Given the description of an element on the screen output the (x, y) to click on. 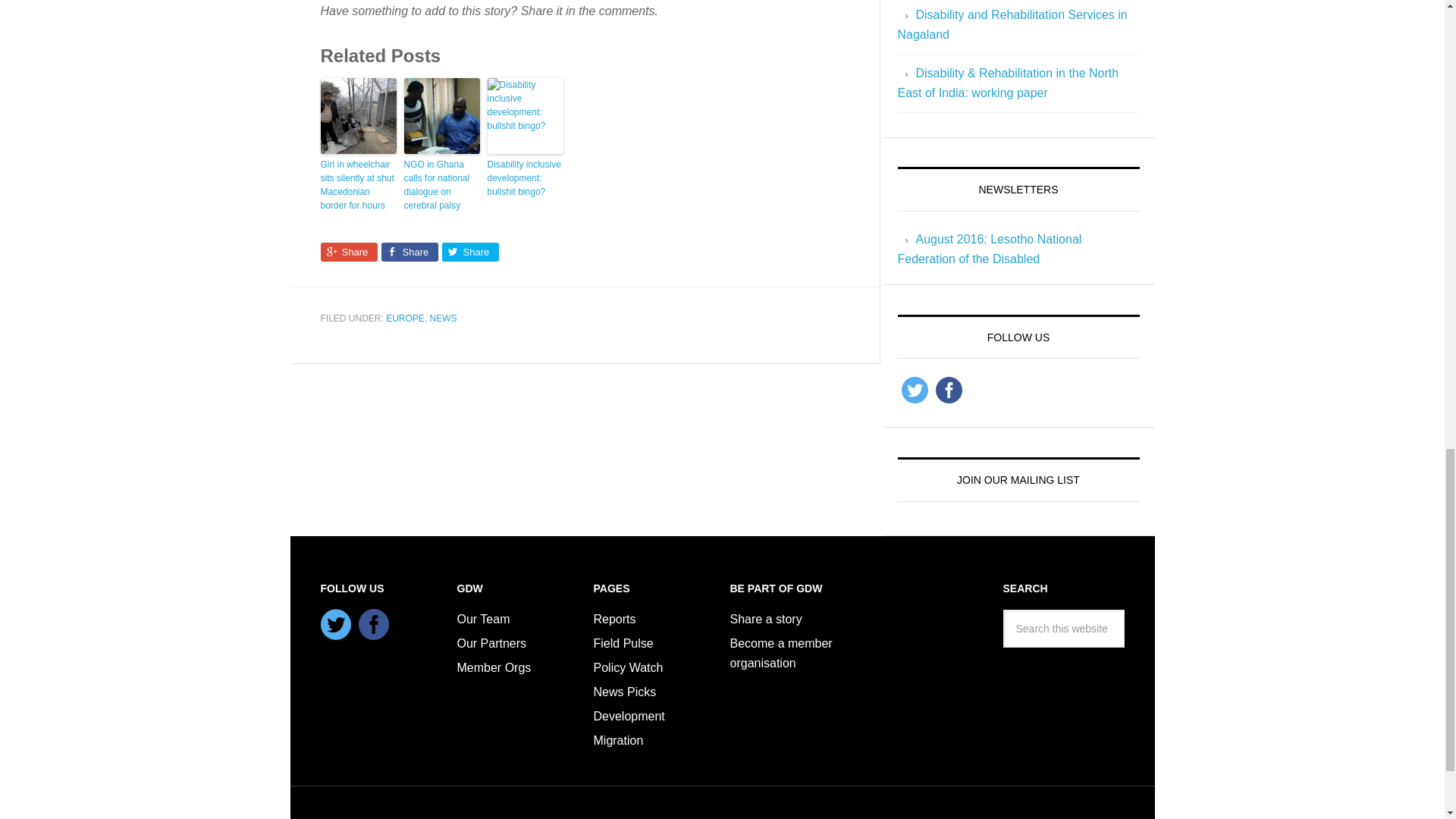
Disability inclusive development: bullshit bingo? (524, 178)
NGO in Ghana calls for national dialogue on cerebral palsy (441, 185)
